Given the description of an element on the screen output the (x, y) to click on. 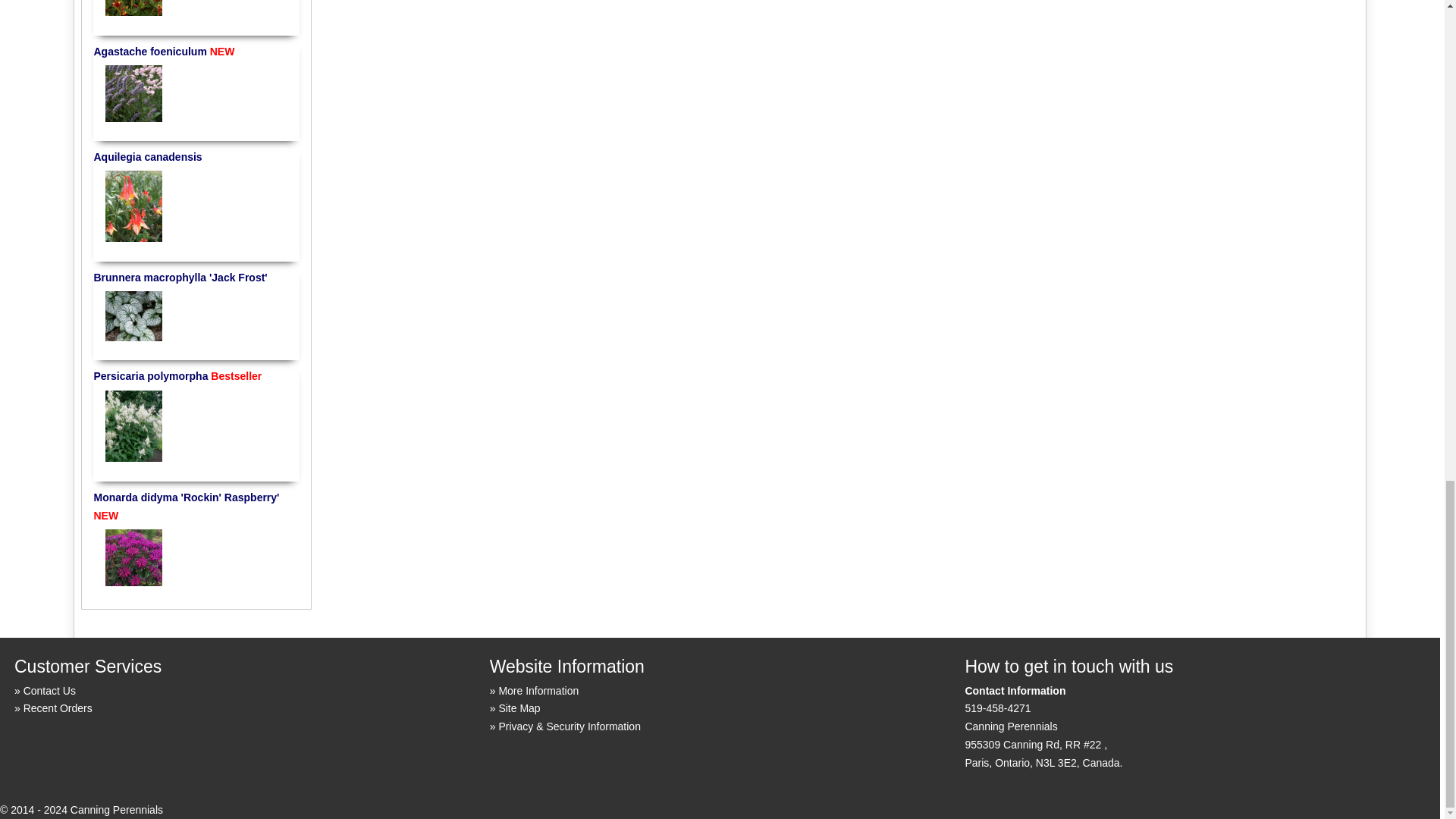
Spigelia marilandica  'Little Redhead'  Bestseller (132, 10)
Agastache foeniculum   NEW (132, 93)
Brunnera macrophylla 'Jack Frost'  (132, 315)
Monarda didyma 'Rockin' Raspberry'   NEW (132, 556)
